Given the description of an element on the screen output the (x, y) to click on. 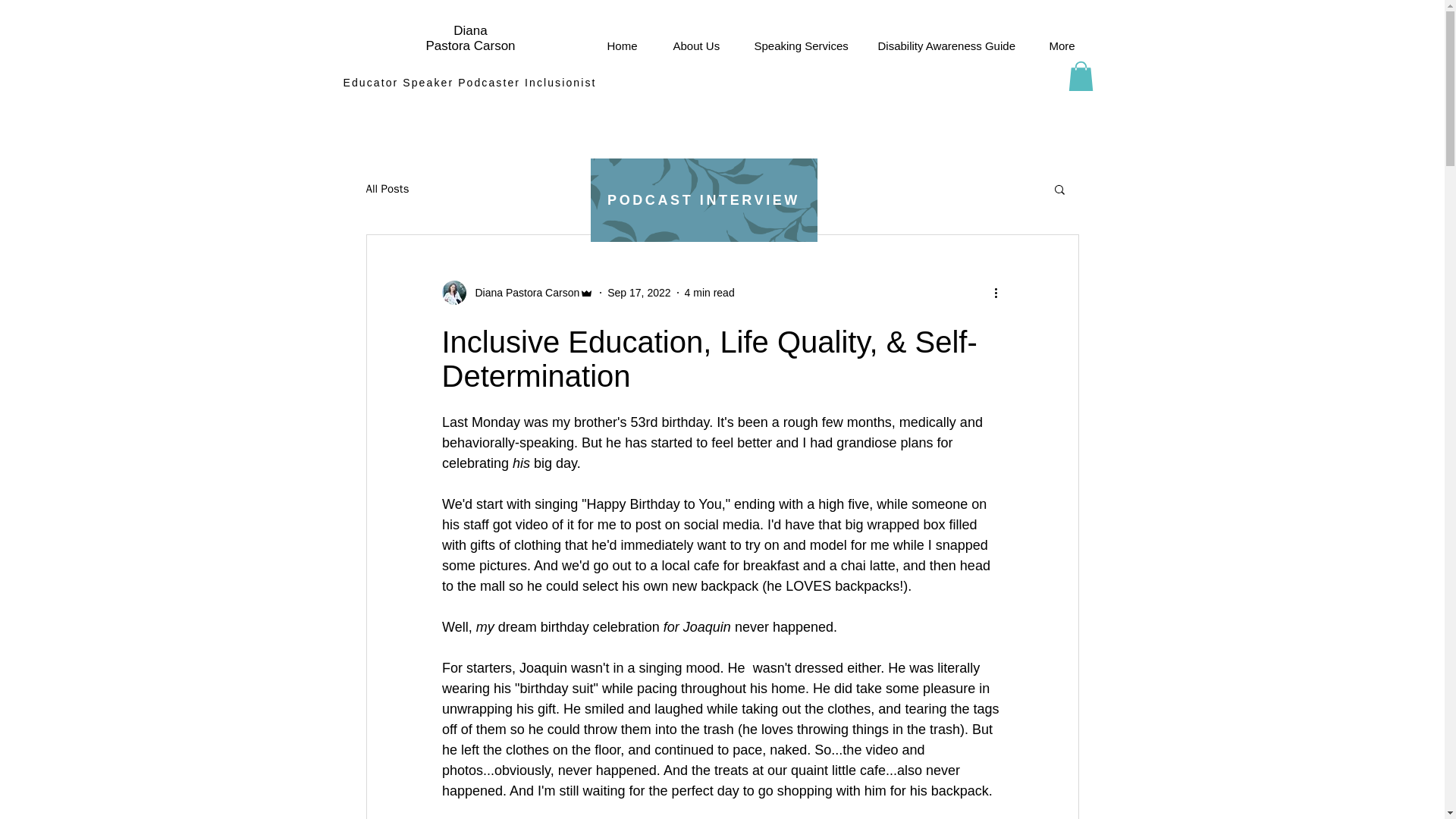
Pastora Carson (470, 45)
Diana Pastora Carson (522, 293)
Disability Awareness Guide (951, 46)
Sep 17, 2022 (638, 292)
PODCAST INTERVIEW (702, 199)
All Posts (387, 188)
About Us (701, 46)
Diana Pastora Carson (517, 292)
Diana (469, 30)
4 min read (709, 292)
Speaking Services (804, 46)
Educator Speaker Podcaster Inclusionist (468, 82)
Home (628, 46)
